Given the description of an element on the screen output the (x, y) to click on. 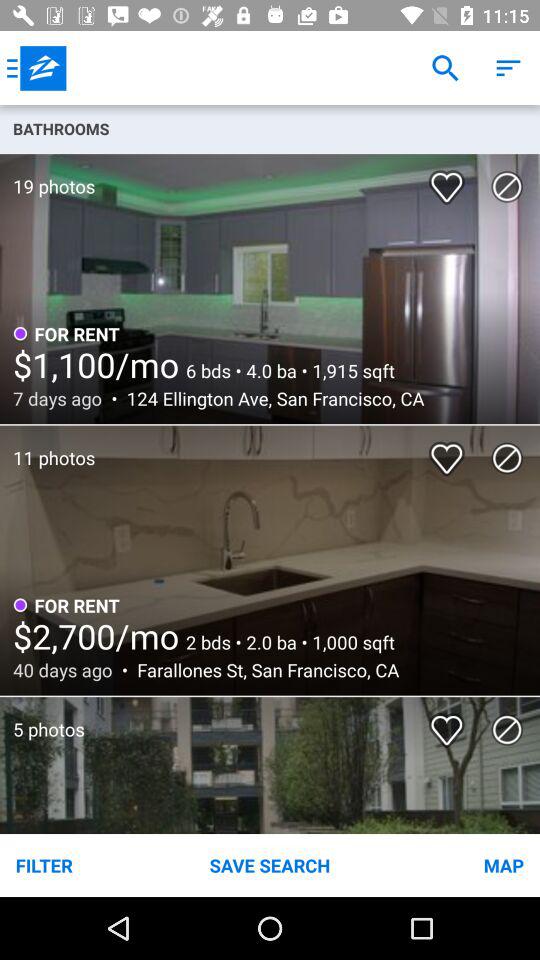
select icon below the $1,100/mo item (269, 398)
